Given the description of an element on the screen output the (x, y) to click on. 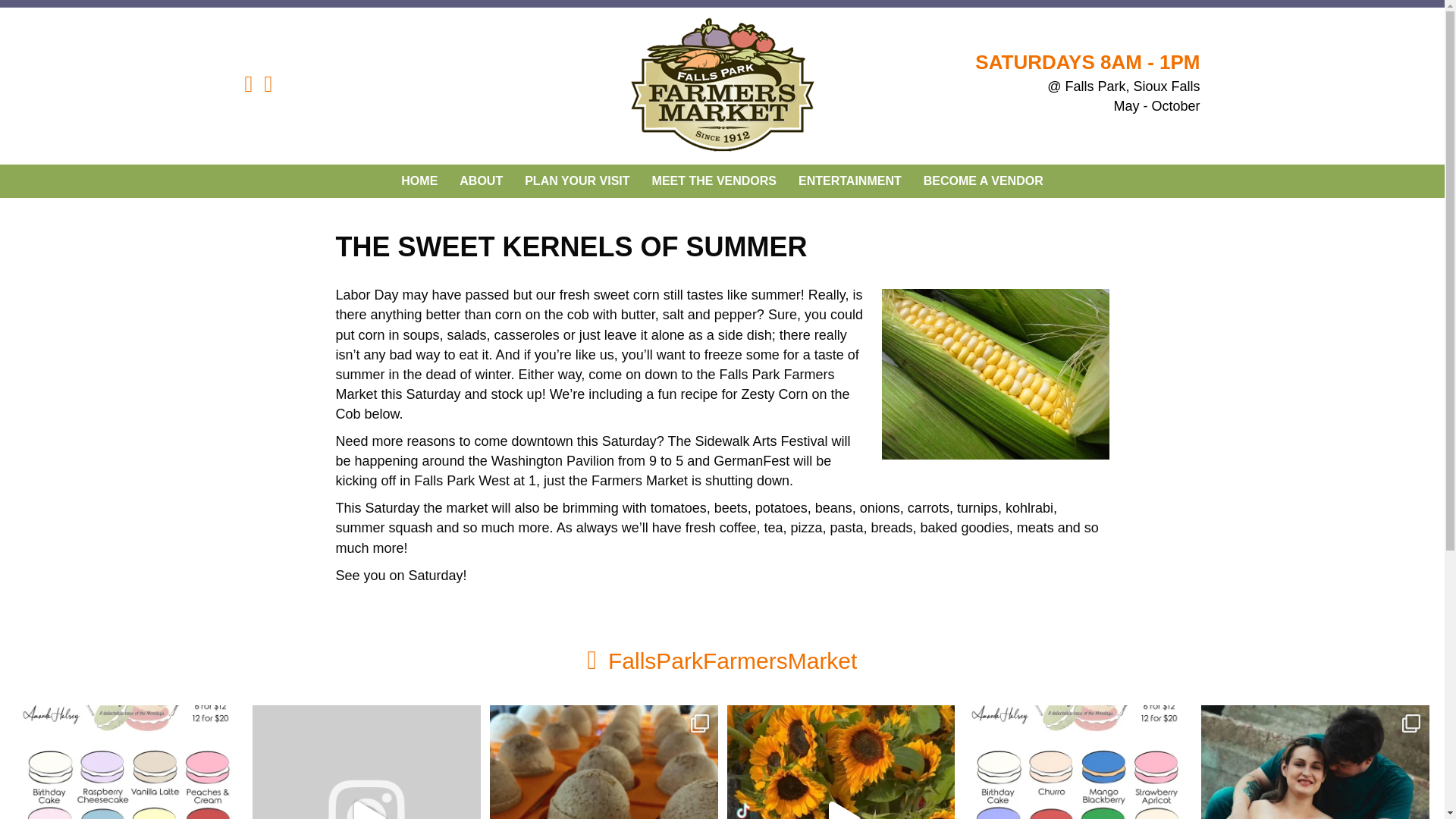
FallsParkFarmersMarket (732, 661)
fpfmlogo (721, 86)
PLAN YOUR VISIT (576, 181)
MEET THE VENDORS (714, 181)
ABOUT (480, 181)
ENTERTAINMENT (849, 181)
BECOME A VENDOR (983, 181)
HOME (419, 181)
